Given the description of an element on the screen output the (x, y) to click on. 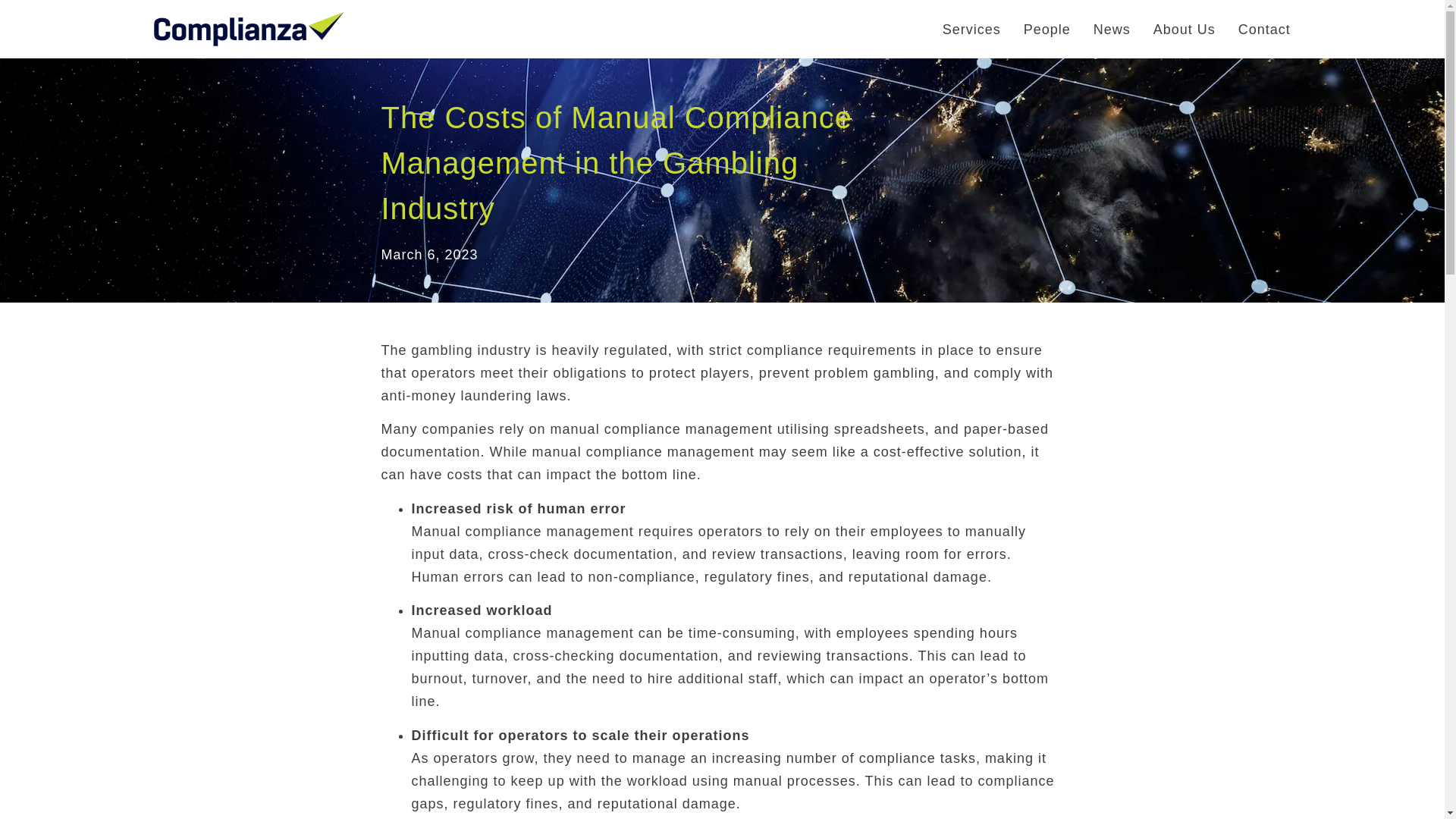
About Us (1184, 28)
Contact (1264, 28)
Services (971, 28)
People (1046, 28)
News (1112, 28)
